Given the description of an element on the screen output the (x, y) to click on. 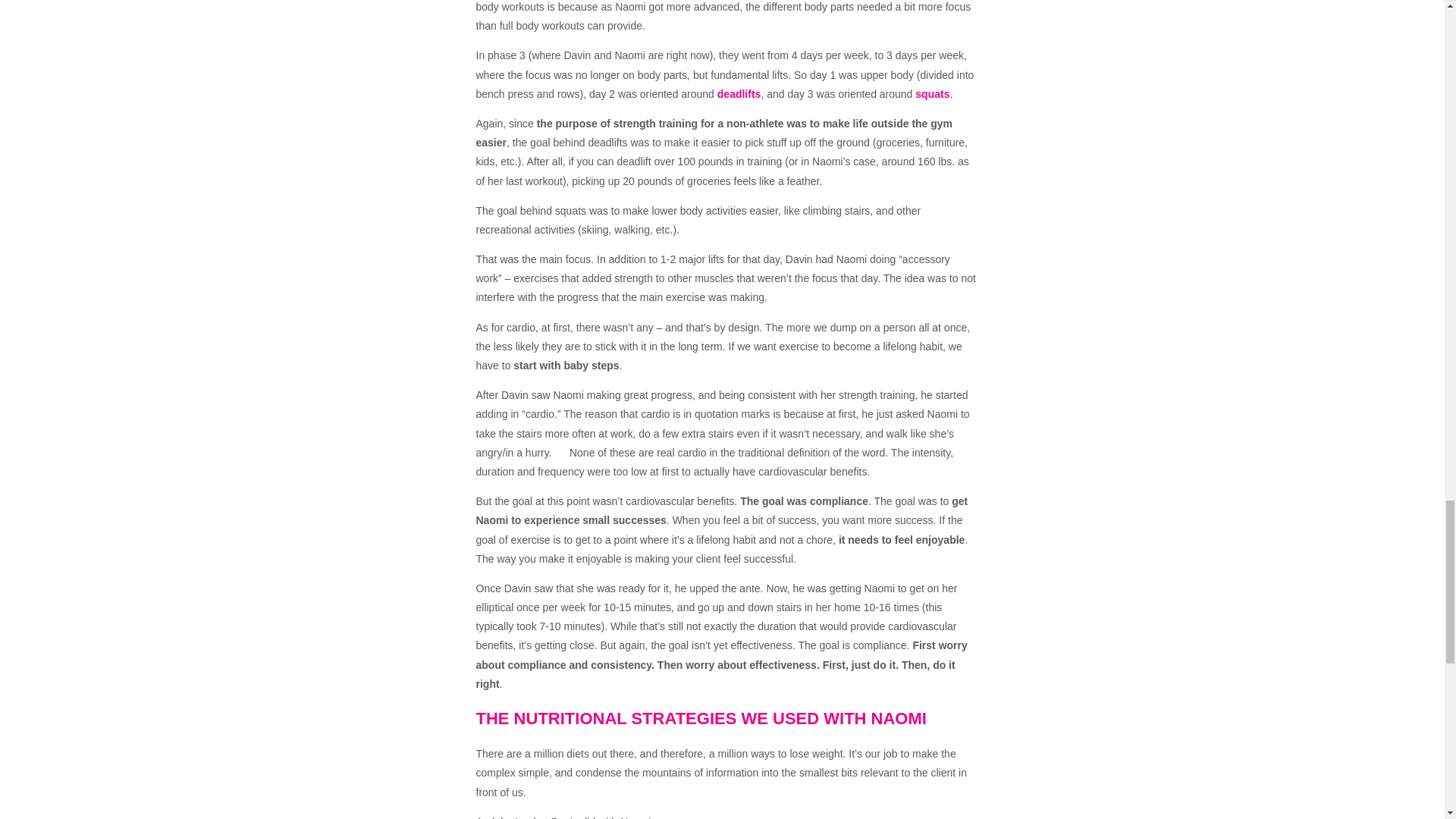
squats (932, 93)
deadlifts (739, 93)
